Given the description of an element on the screen output the (x, y) to click on. 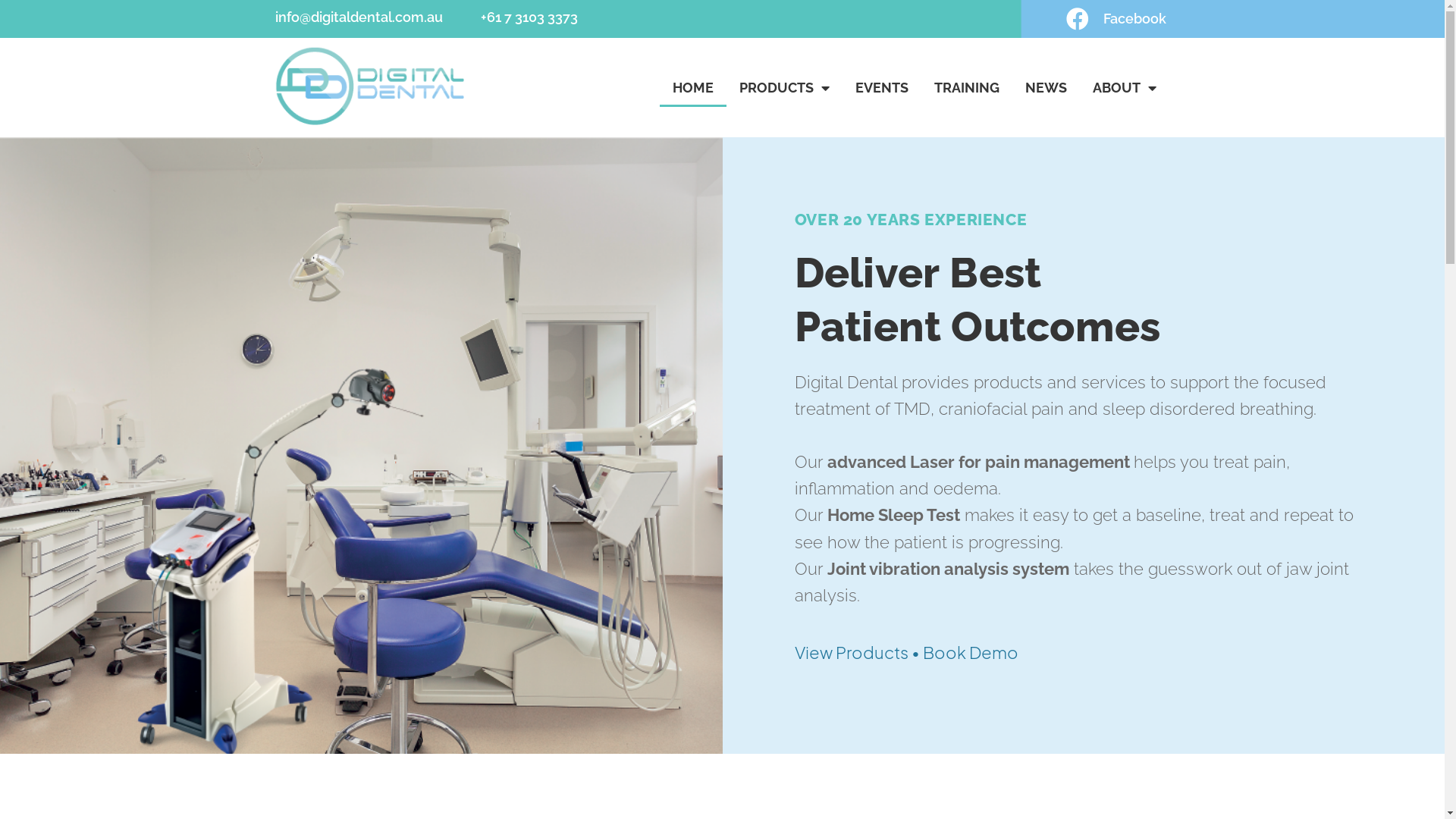
EVENTS Element type: text (881, 87)
Book Demo Element type: text (970, 651)
NEWS Element type: text (1045, 87)
info@digitaldental.com.au Element type: text (358, 16)
Facebook Element type: text (1059, 18)
+61 7 3103 3373 Element type: text (528, 16)
HOME Element type: text (692, 87)
ABOUT Element type: text (1124, 87)
TRAINING Element type: text (966, 87)
PRODUCTS Element type: text (784, 87)
